Given the description of an element on the screen output the (x, y) to click on. 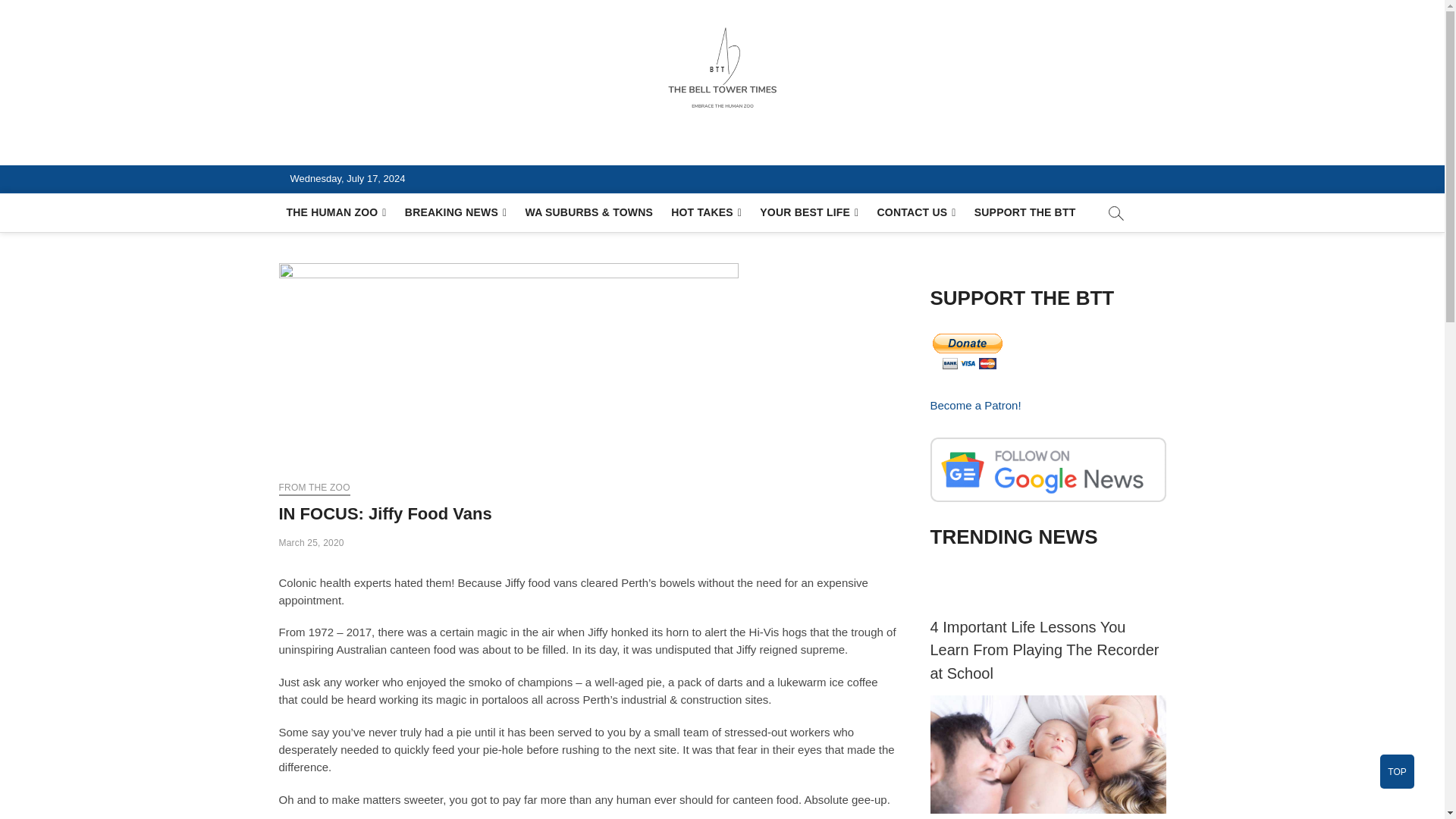
The Bell Tower Times (416, 146)
BREAKING NEWS (456, 212)
YOUR BEST LIFE (809, 212)
March 25, 2020 (311, 542)
THE HUMAN ZOO (336, 212)
The Bell Tower Times (416, 146)
HOT TAKES (706, 212)
